Given the description of an element on the screen output the (x, y) to click on. 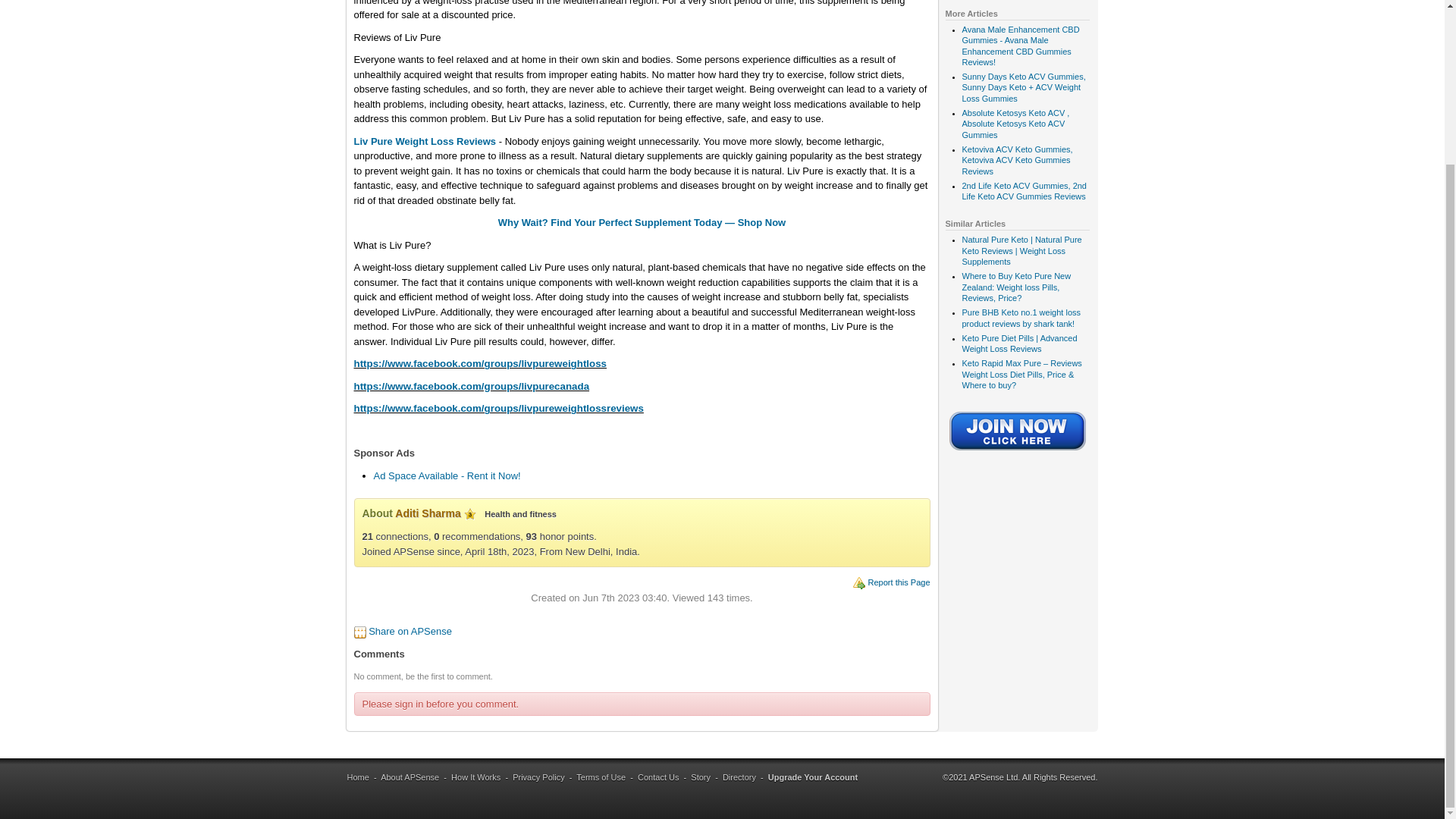
Join APSense Social Network (1017, 451)
Report this Page (898, 582)
2nd Life Keto ACV Gummies, 2nd Life Keto ACV Gummies Reviews (1023, 190)
Share on APSense (409, 631)
Ketoviva ACV Keto Gummies, Ketoviva ACV Keto Gummies Reviews (1015, 160)
Innovator (470, 513)
Liv Pure Weight Loss Reviews  (424, 141)
Aditi Sharma (427, 512)
